Given the description of an element on the screen output the (x, y) to click on. 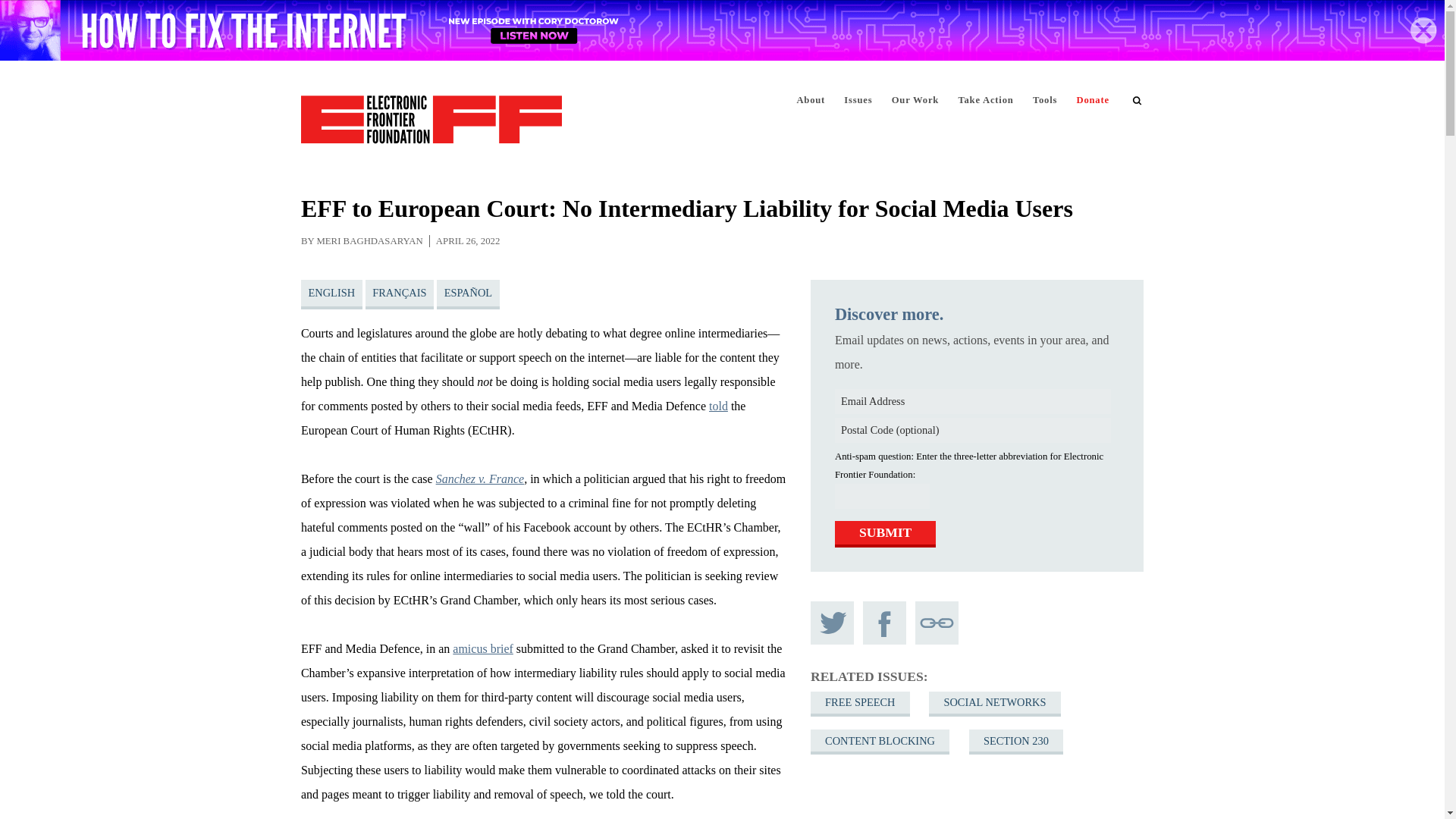
Submit (885, 533)
